Given the description of an element on the screen output the (x, y) to click on. 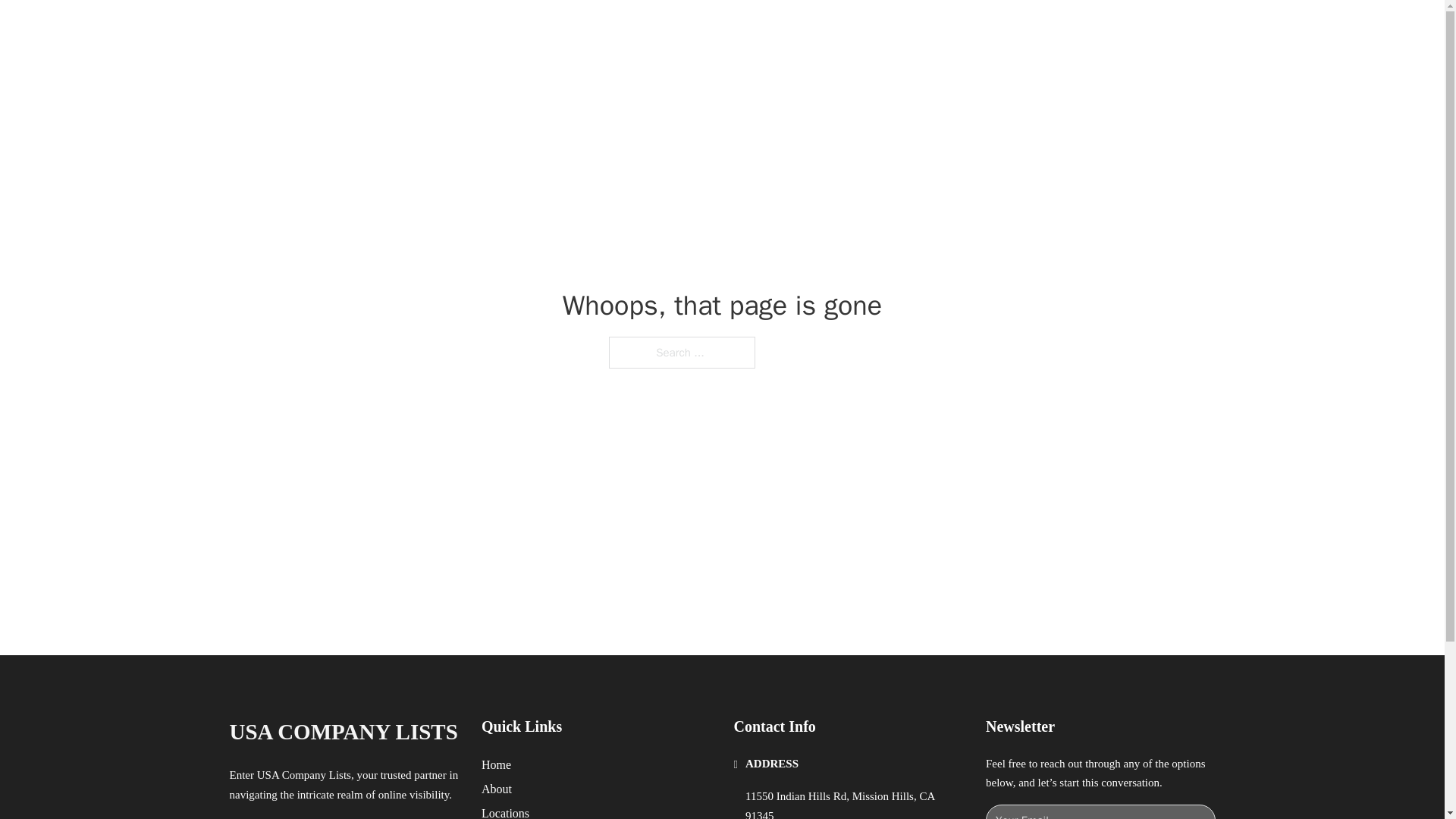
LOCATIONS (990, 29)
HOME (919, 29)
Locations (505, 811)
USA COMPANY LISTS (416, 28)
Home (496, 764)
USA COMPANY LISTS (342, 732)
About (496, 788)
